Given the description of an element on the screen output the (x, y) to click on. 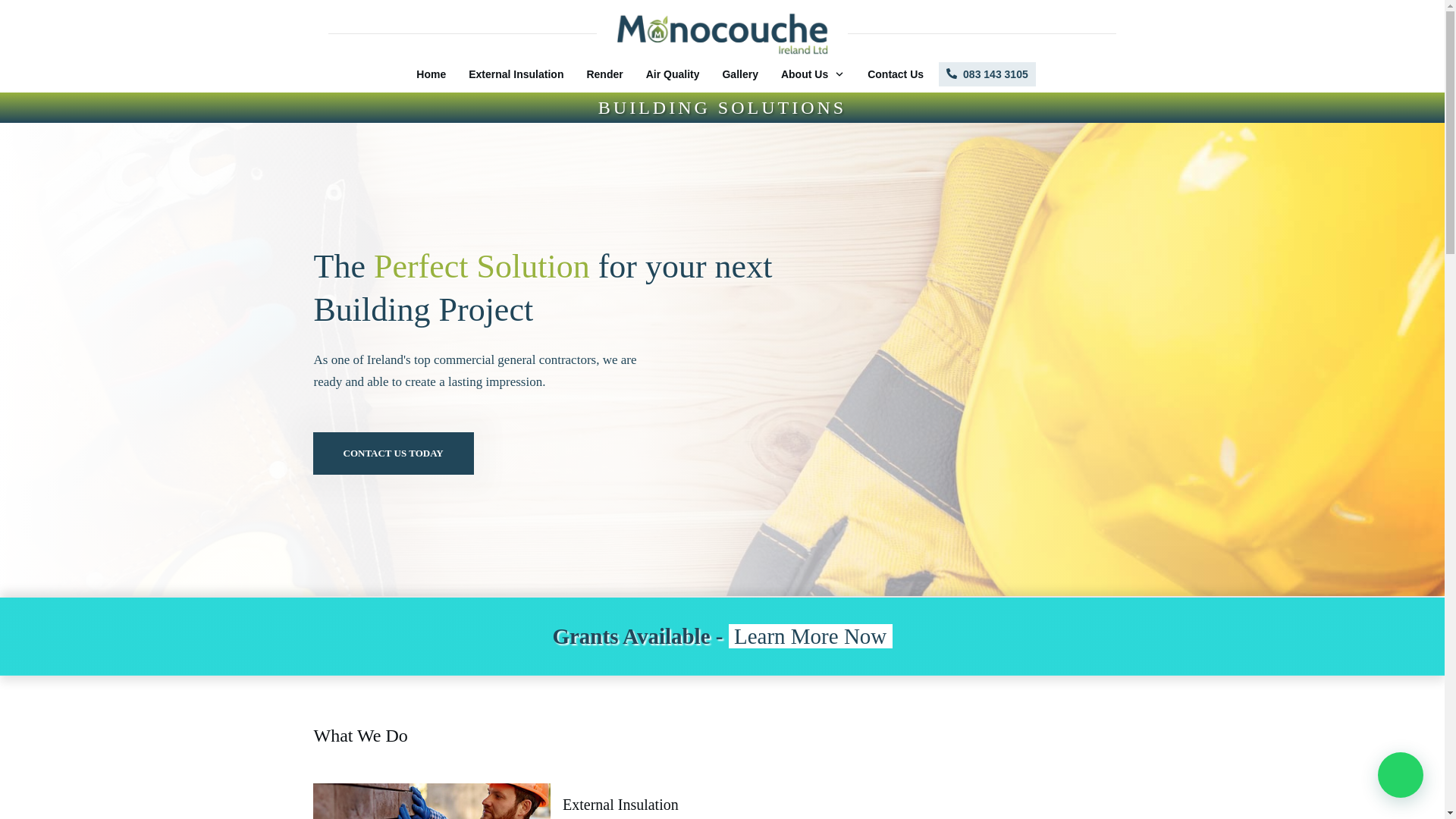
Home (430, 74)
083 143 3105 (986, 74)
Contact Us (895, 74)
External Insulation (515, 74)
CONTACT US TODAY (393, 453)
 Learn More Now  (810, 636)
Air Quality (673, 74)
Gallery (739, 74)
About Us (812, 74)
Render (604, 74)
CONTACT US TODAY (393, 453)
